Given the description of an element on the screen output the (x, y) to click on. 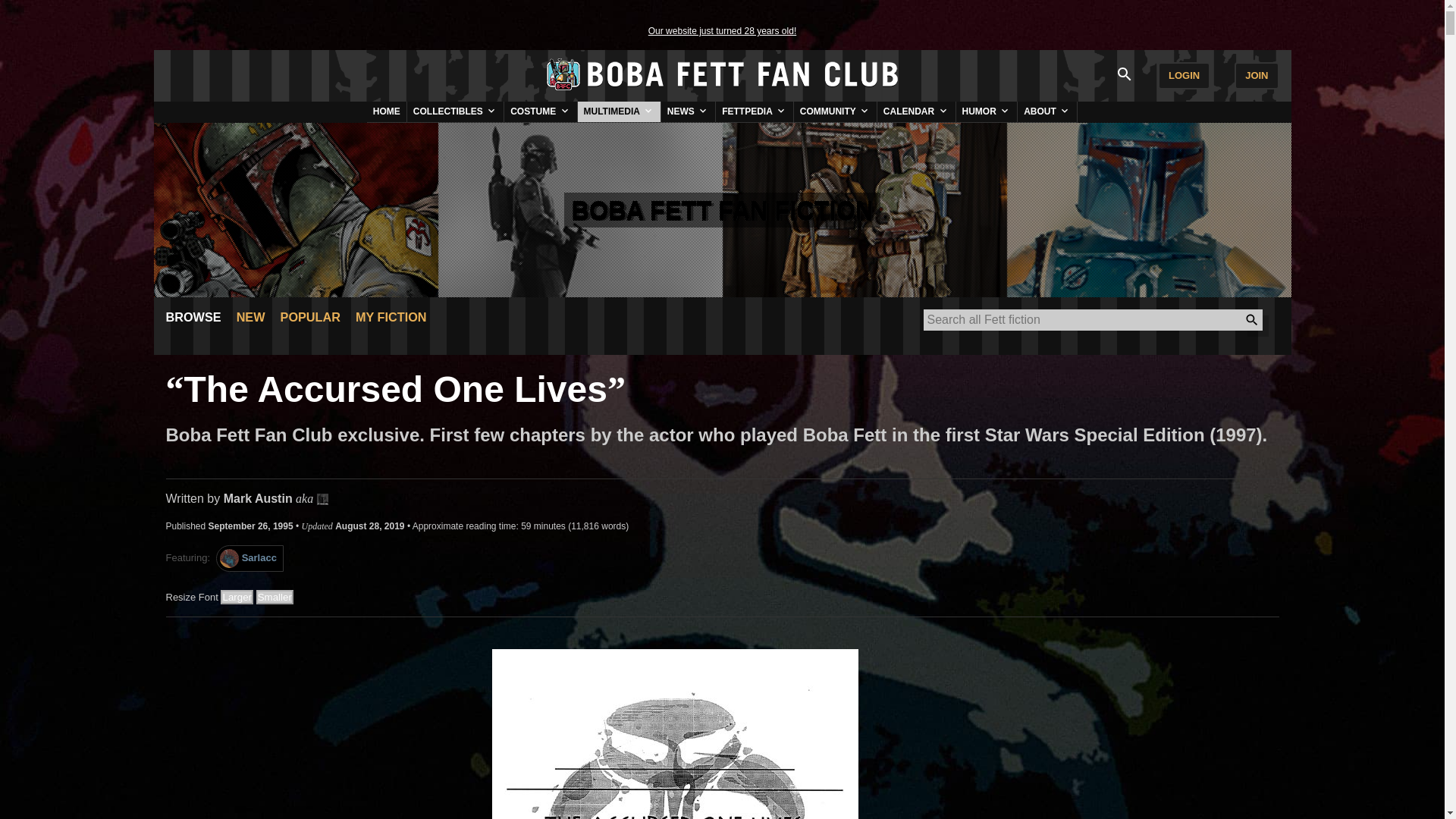
Smaller (275, 596)
COLLECTIBLES (455, 111)
MULTIMEDIA (619, 111)
NEWS (687, 111)
JOIN (1256, 75)
COSTUME (539, 111)
LOGIN (1183, 75)
Our website just turned 28 years old! (721, 30)
HOME (386, 111)
Larger (237, 596)
